Given the description of an element on the screen output the (x, y) to click on. 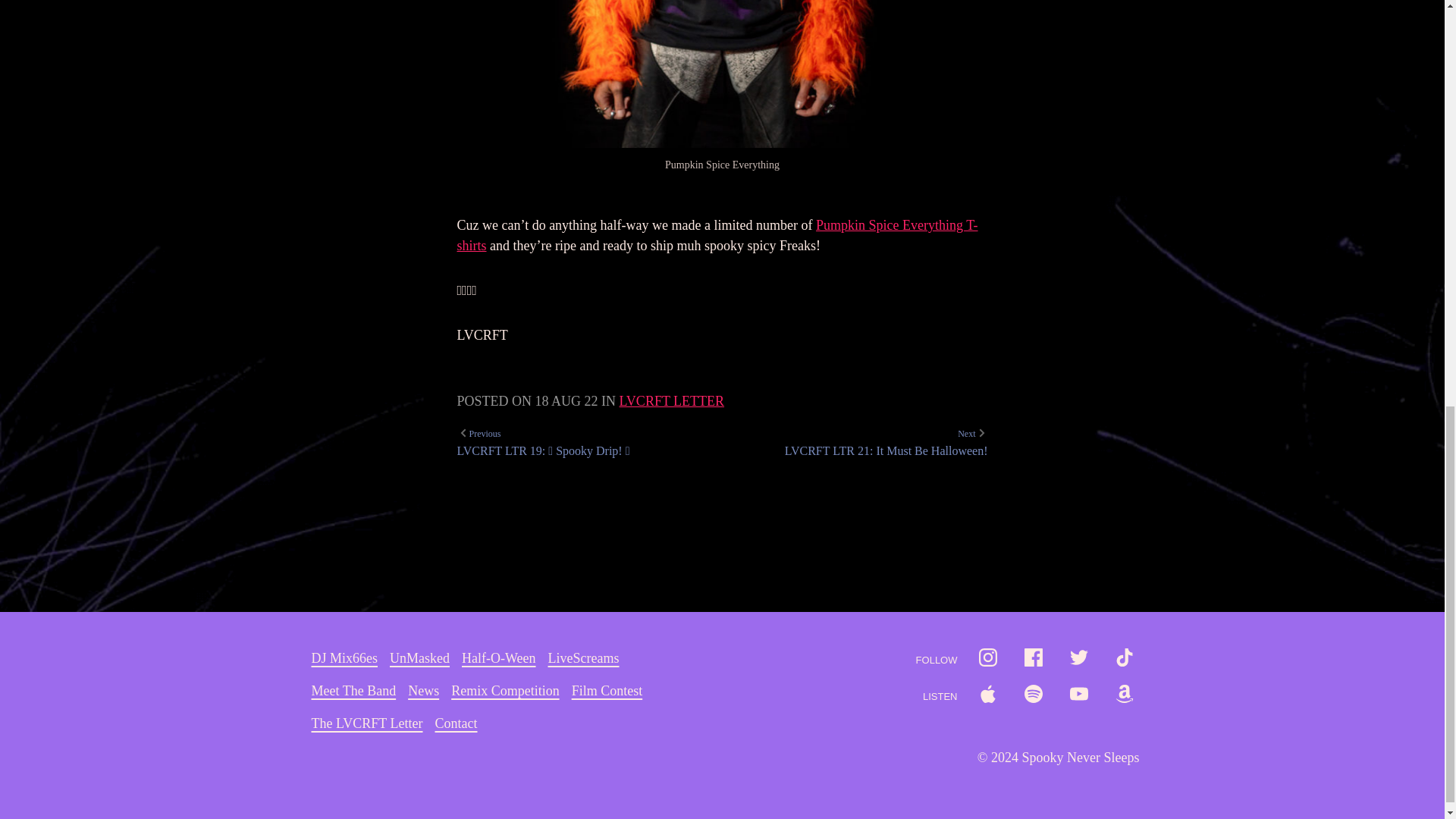
Pumpkin Spice Everything T-shirts (716, 235)
LVCRFT LETTER (672, 400)
Contact (456, 723)
DJ Mix66es (344, 658)
The LVCRFT Letter (886, 443)
Remix Competition (366, 723)
Film Contest (505, 690)
News (607, 690)
Half-O-Ween (423, 690)
LiveScreams (498, 658)
Meet The Band (583, 658)
UnMasked (352, 690)
